Given the description of an element on the screen output the (x, y) to click on. 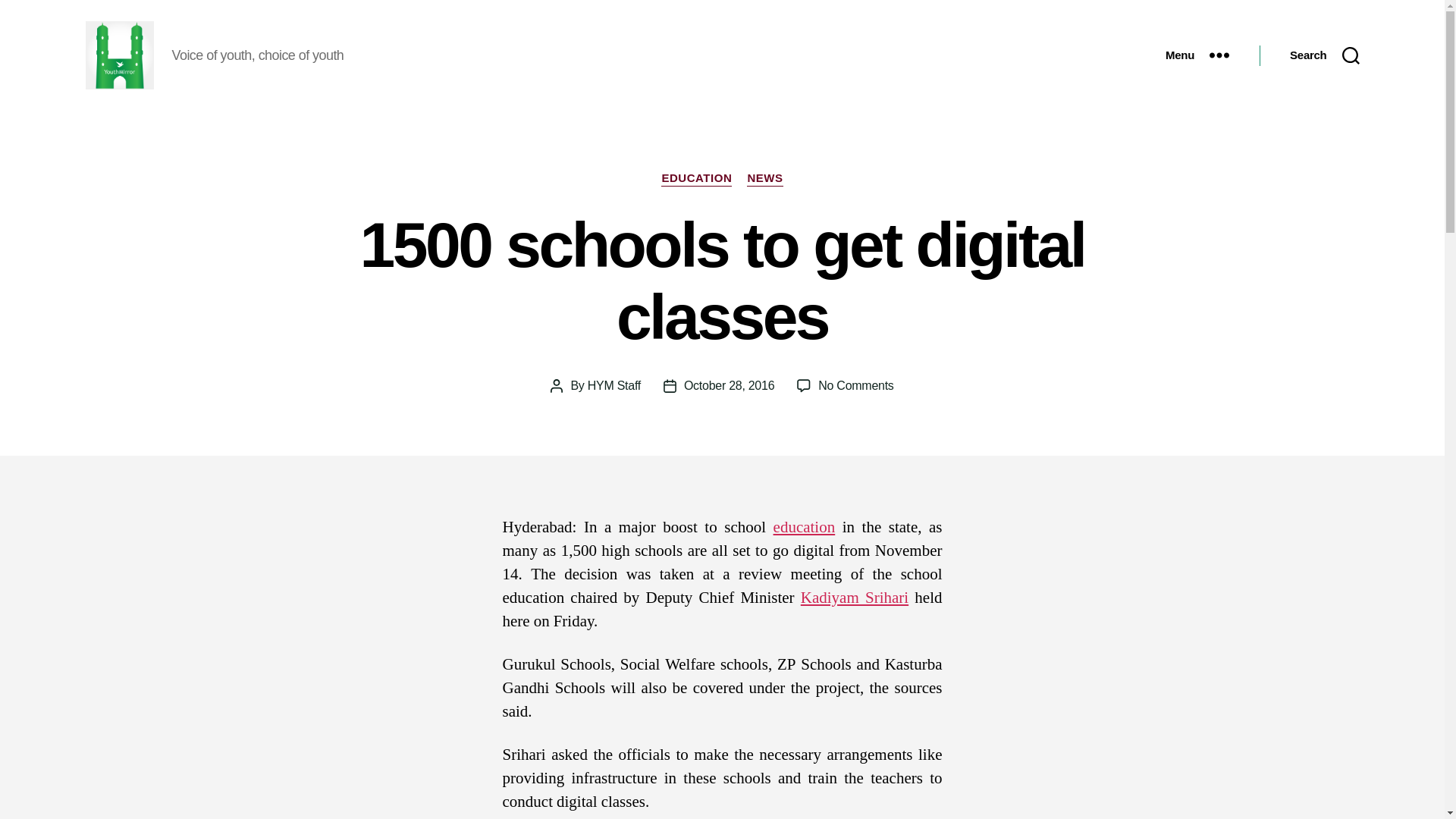
NEWS (764, 178)
Menu (1197, 55)
HYM Staff (614, 385)
Search (1324, 55)
education (804, 526)
EDUCATION (696, 178)
October 28, 2016 (729, 385)
Kadiyam Srihari (855, 385)
